Given the description of an element on the screen output the (x, y) to click on. 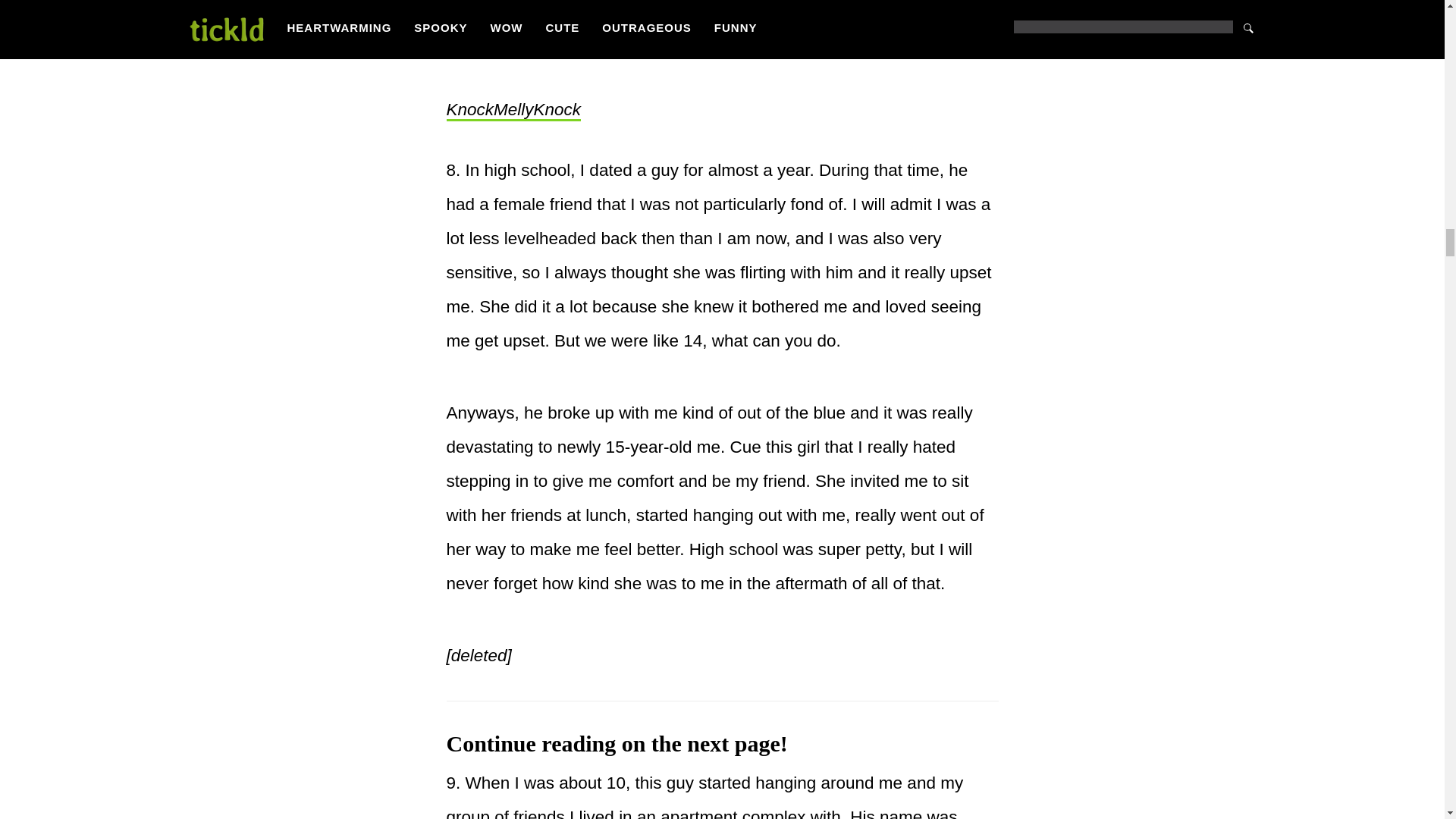
KnockMellyKnock (512, 110)
